Given the description of an element on the screen output the (x, y) to click on. 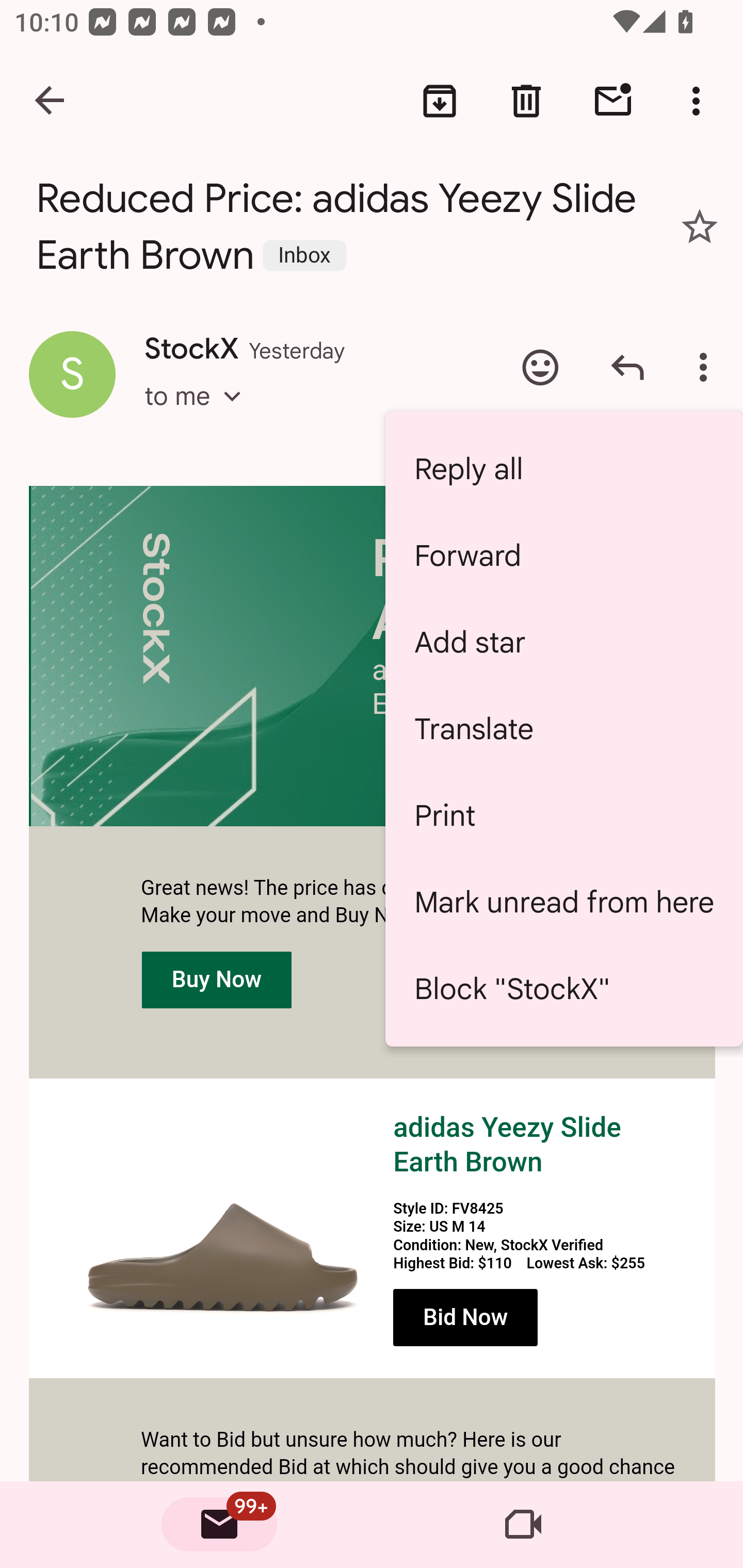
Reply all (564, 468)
Forward (564, 555)
Add star (564, 641)
Translate (564, 728)
Print (564, 815)
Mark unread from here (564, 902)
Block "StockX" (564, 988)
